Given the description of an element on the screen output the (x, y) to click on. 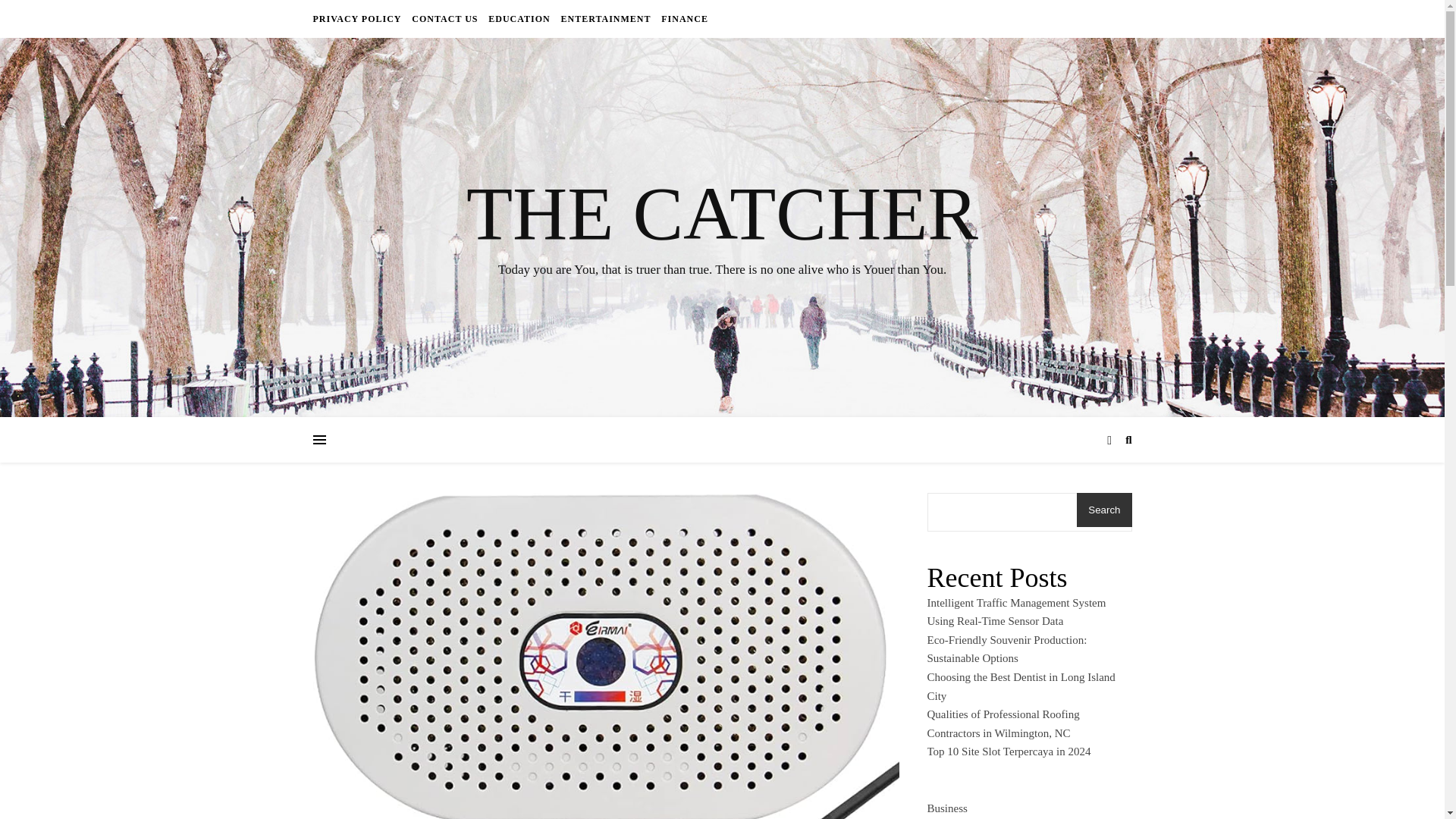
Top 10 Site Slot Terpercaya in 2024 (1008, 751)
Business (946, 805)
ENTERTAINMENT (604, 18)
CONTACT US (444, 18)
Search (1104, 510)
Choosing the Best Dentist in Long Island City (1020, 685)
EDUCATION (518, 18)
FINANCE (682, 18)
PRIVACY POLICY (358, 18)
Eco-Friendly Souvenir Production: Sustainable Options (1006, 649)
